Given the description of an element on the screen output the (x, y) to click on. 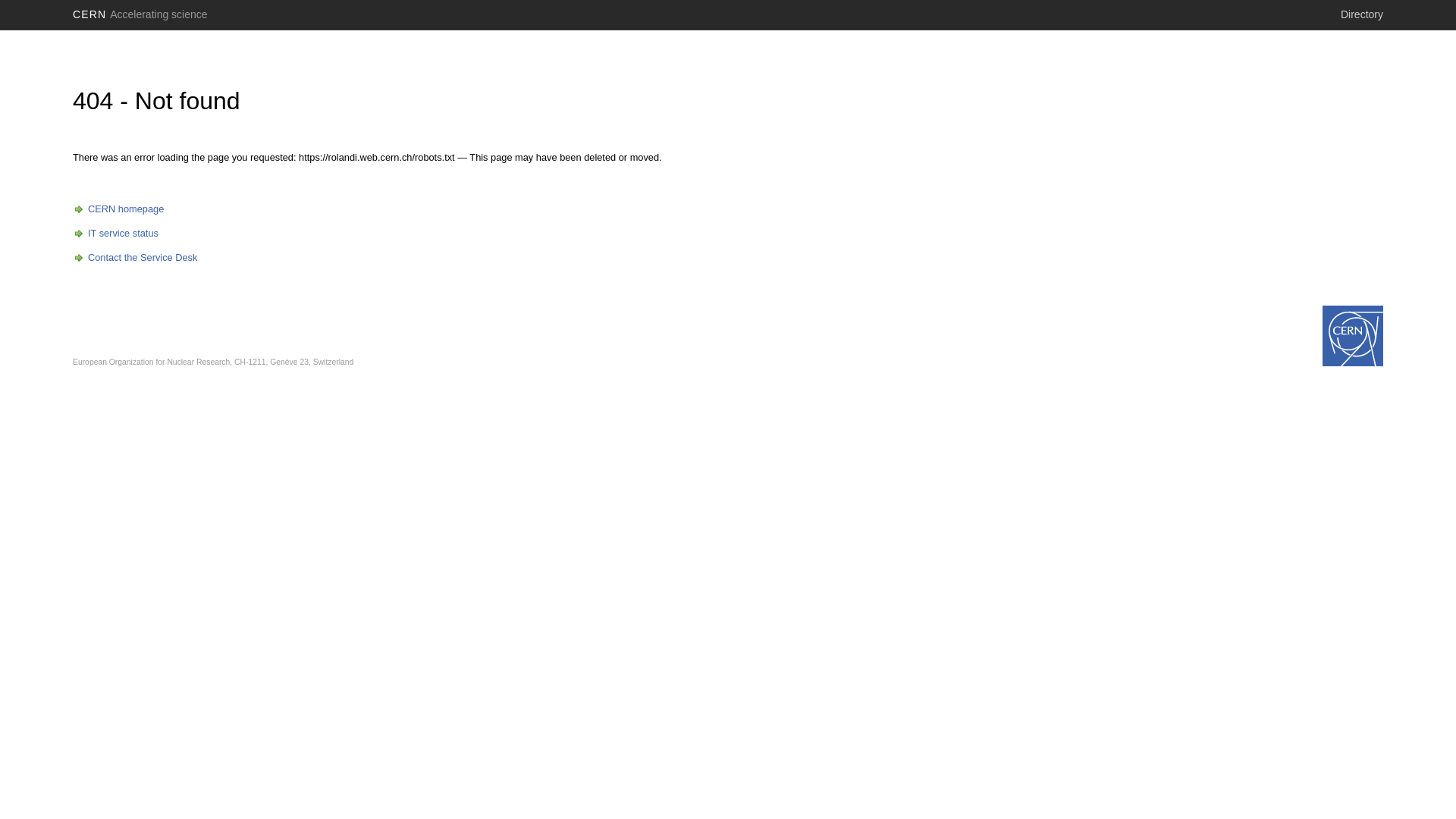
www.cern.ch Element type: hover (1352, 335)
Contact the Service Desk Element type: text (134, 257)
CERN homepage Element type: text (117, 208)
CERN Accelerating science Element type: text (139, 14)
Directory Element type: text (1361, 14)
IT service status Element type: text (115, 232)
